Given the description of an element on the screen output the (x, y) to click on. 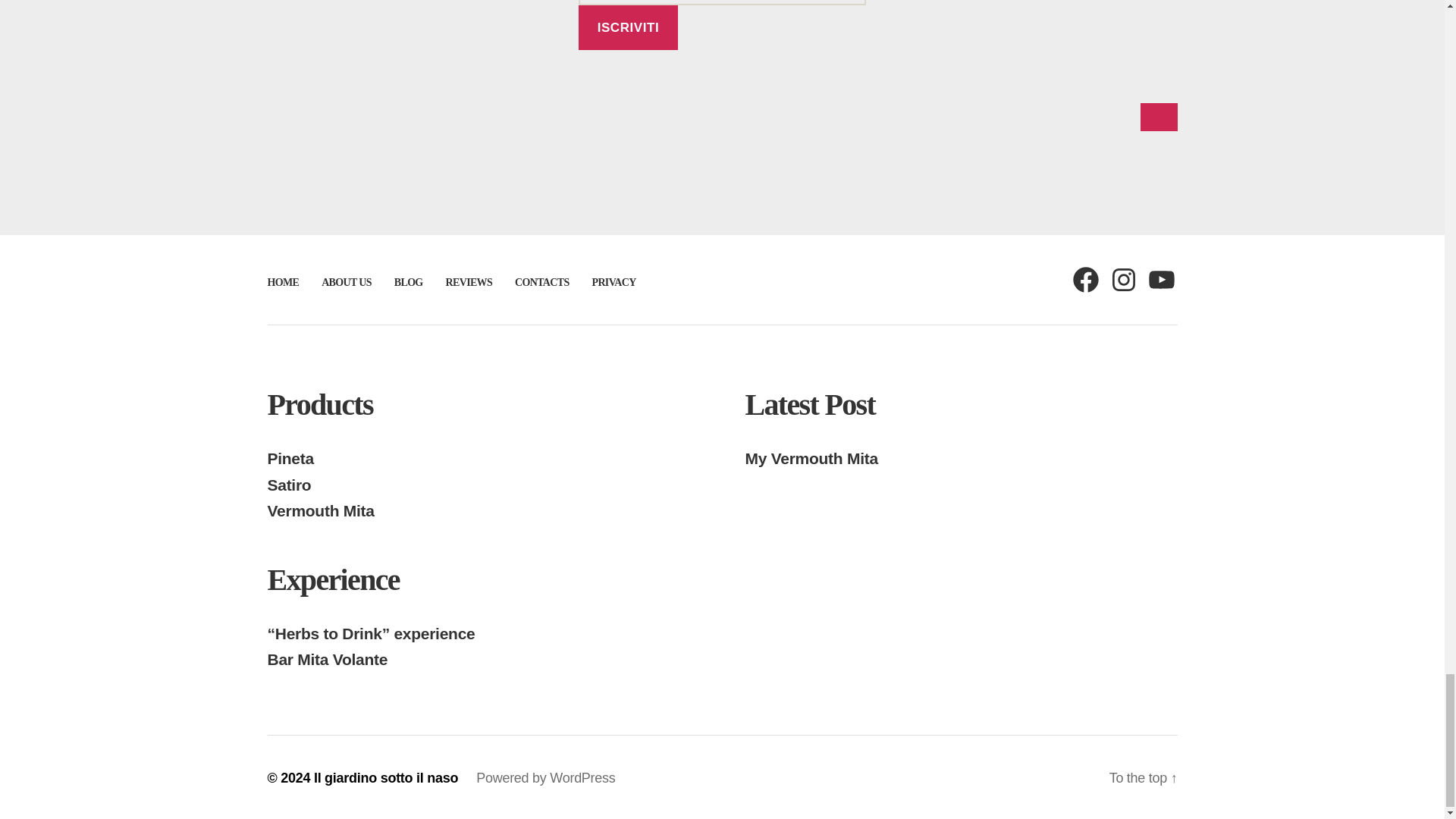
Iscriviti (628, 26)
